Given the description of an element on the screen output the (x, y) to click on. 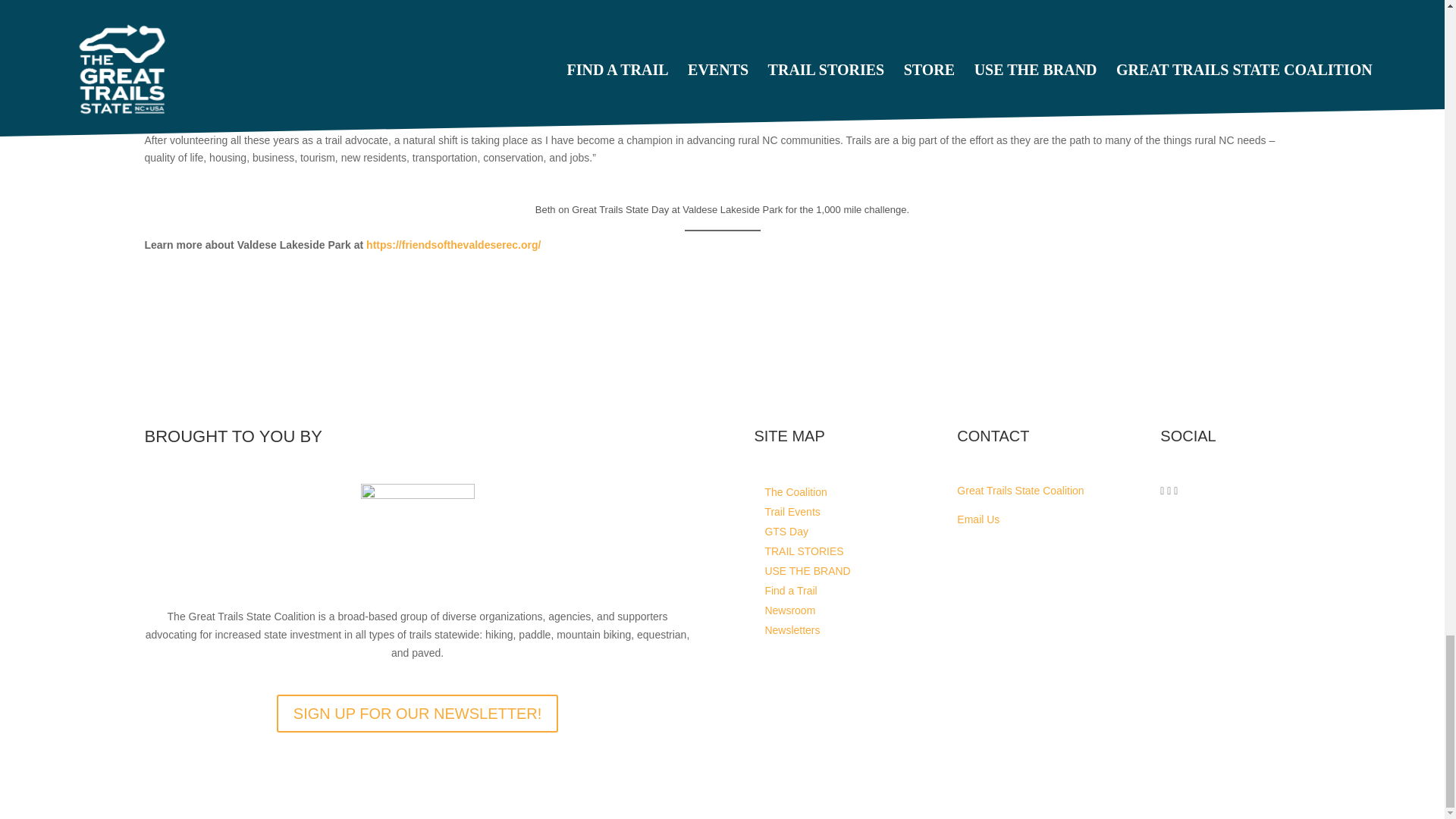
GTS Day (786, 531)
Find a Trail (790, 590)
SIGN UP FOR OUR NEWSLETTER! (416, 713)
The Coalition (795, 492)
Newsroom (789, 609)
Email Us (977, 519)
Great Trails State Coalition (1019, 490)
USE THE BRAND (807, 570)
Newsletters (791, 629)
Trail Events (791, 511)
TRAIL STORIES (803, 551)
